Given the description of an element on the screen output the (x, y) to click on. 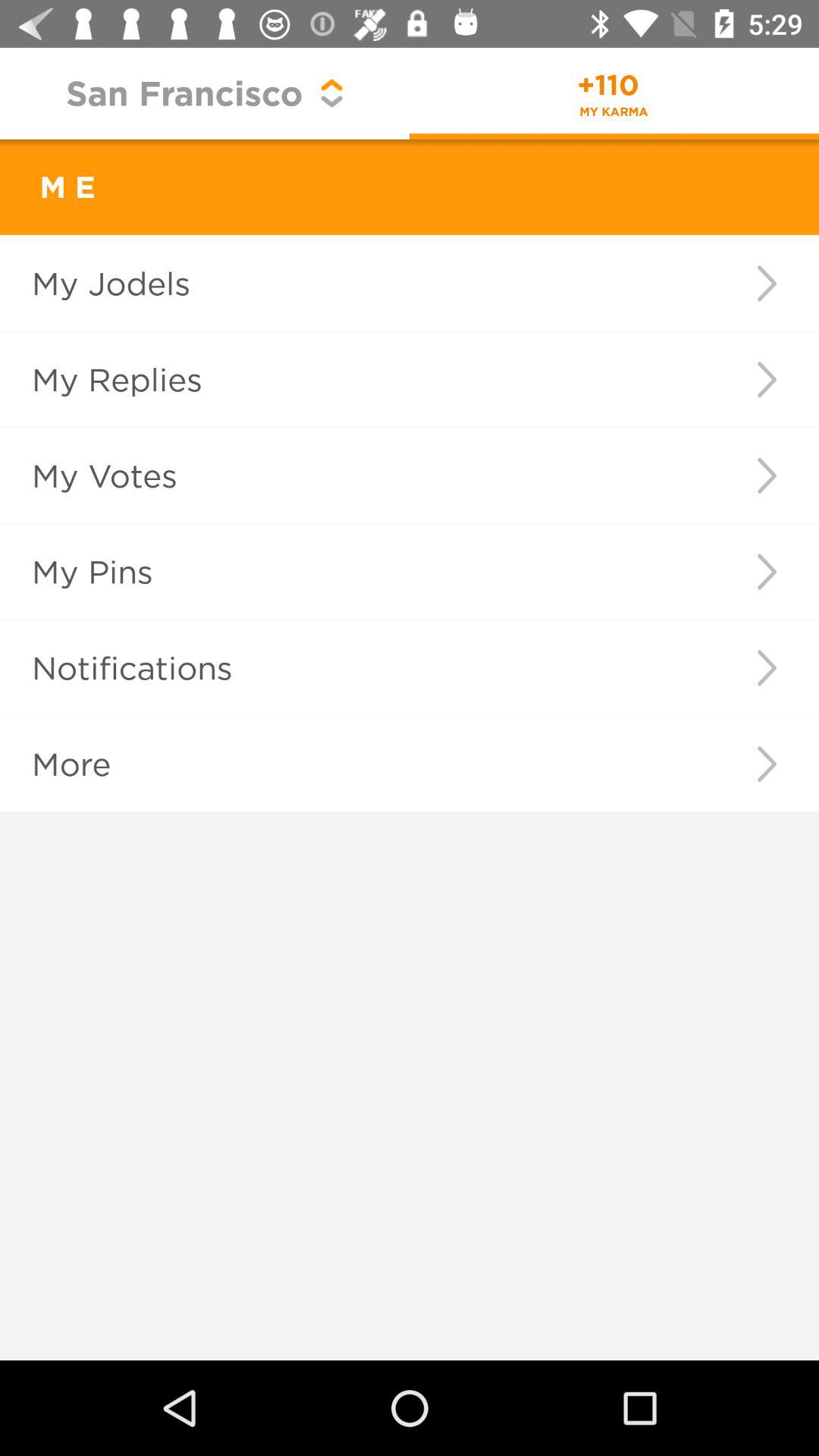
select the icon next to the my replies (766, 379)
